Given the description of an element on the screen output the (x, y) to click on. 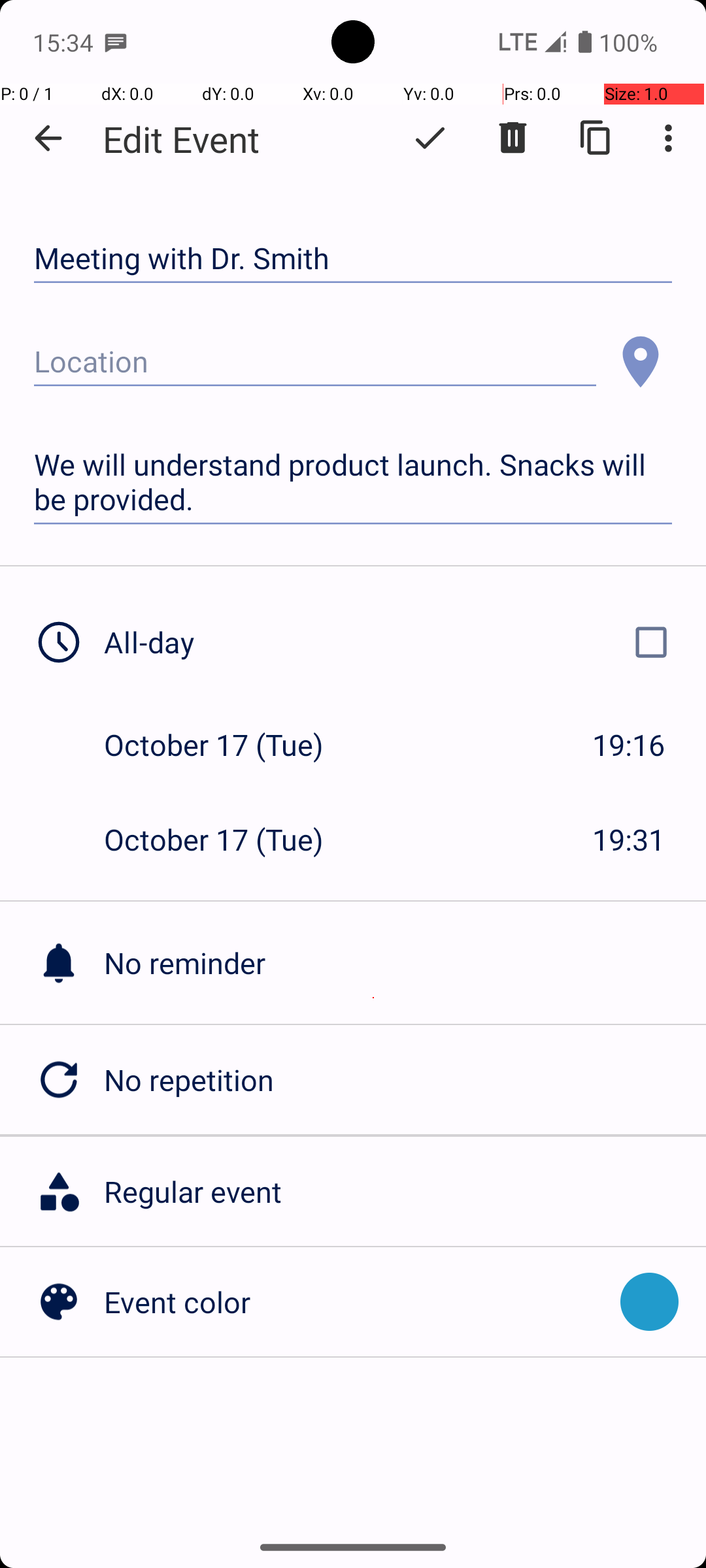
We will understand product launch. Snacks will be provided. Element type: android.widget.EditText (352, 482)
October 17 (Tue) Element type: android.widget.TextView (227, 744)
19:16 Element type: android.widget.TextView (628, 744)
19:31 Element type: android.widget.TextView (628, 838)
